Given the description of an element on the screen output the (x, y) to click on. 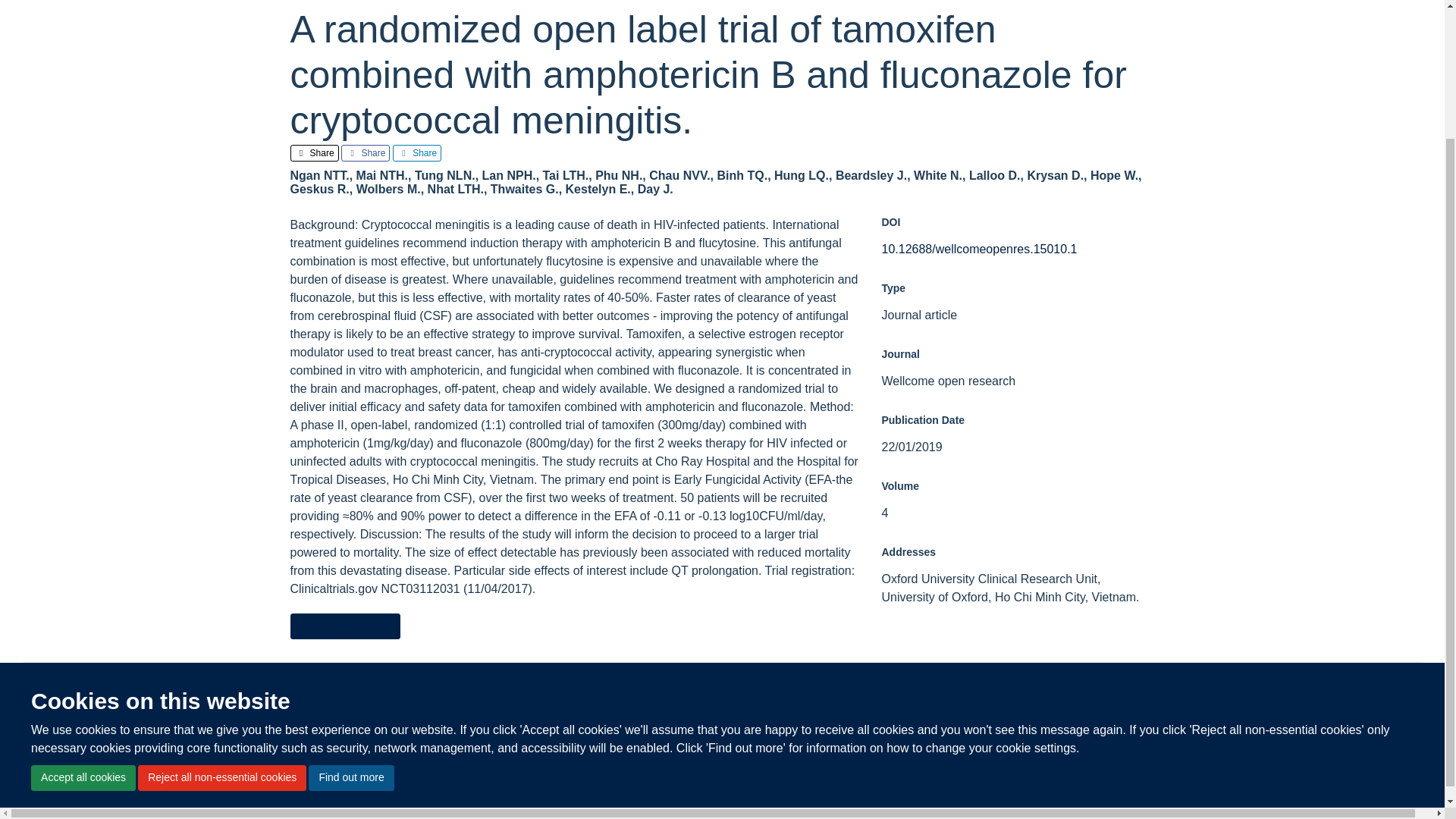
Reject all non-essential cookies (221, 617)
Find out more (350, 617)
Accept all cookies (82, 617)
